Given the description of an element on the screen output the (x, y) to click on. 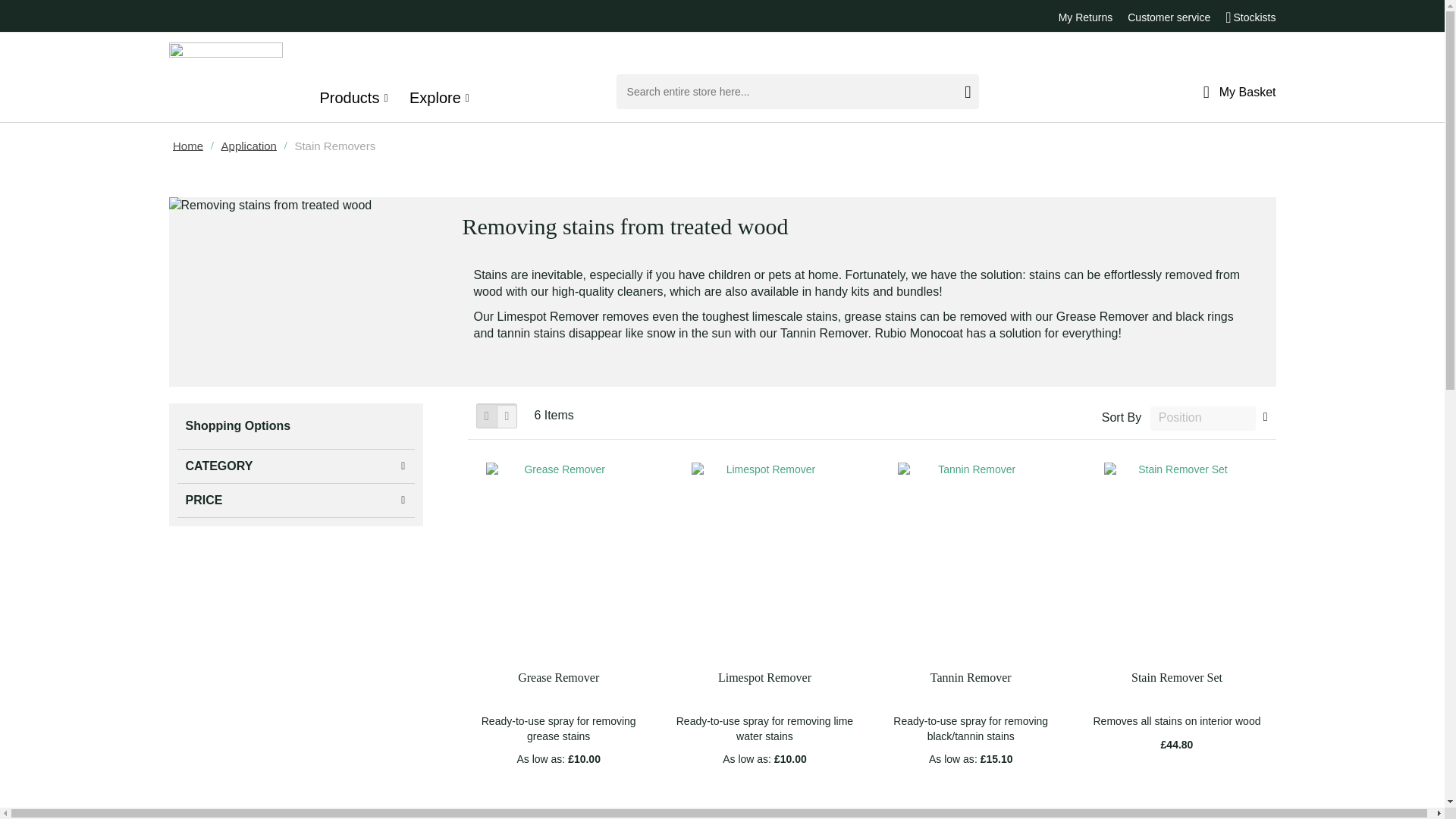
Stockists (1254, 16)
My Returns (1085, 16)
Products (353, 97)
Customer service (1167, 16)
